Given the description of an element on the screen output the (x, y) to click on. 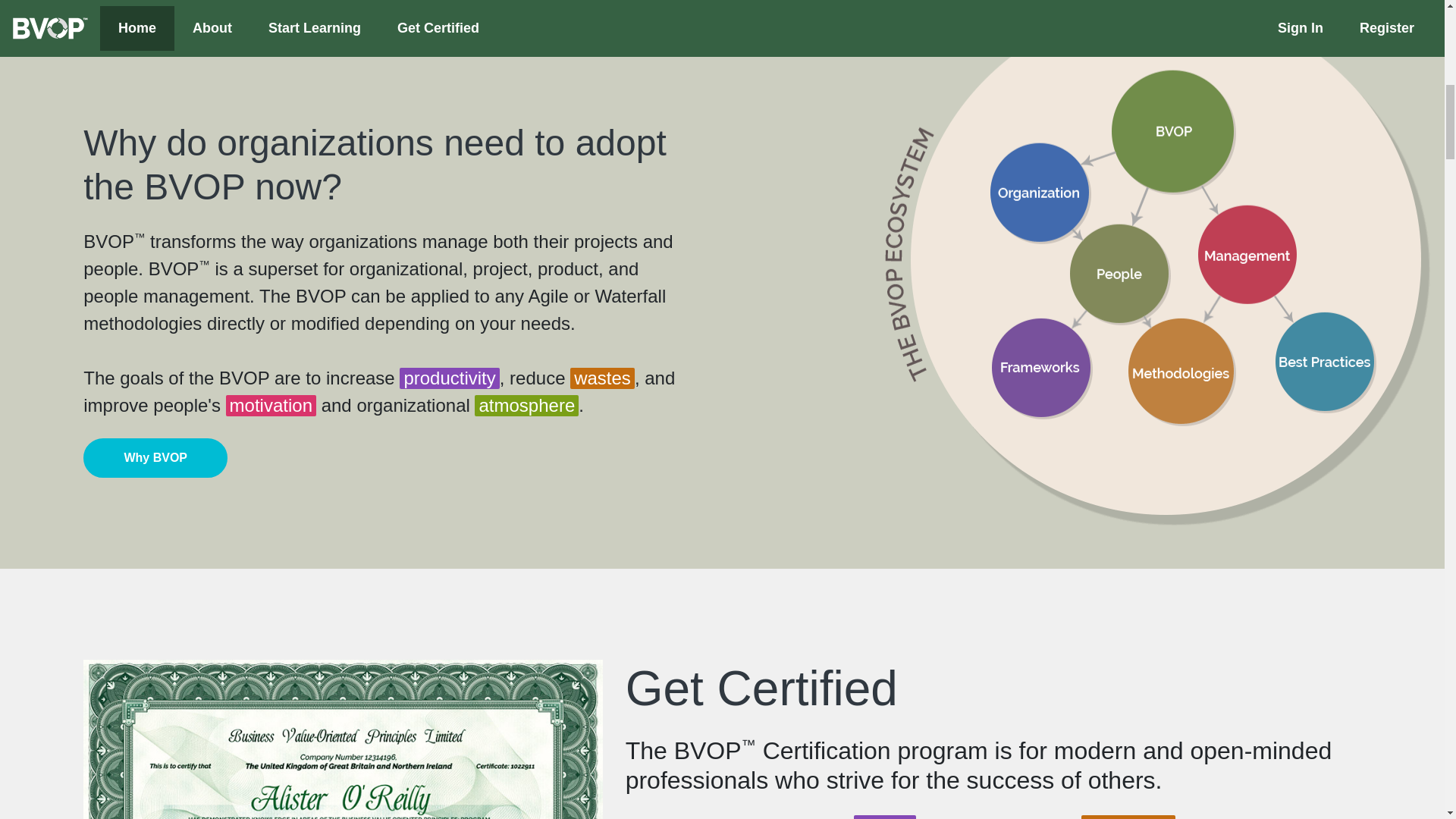
Why BVOP (154, 457)
